Given the description of an element on the screen output the (x, y) to click on. 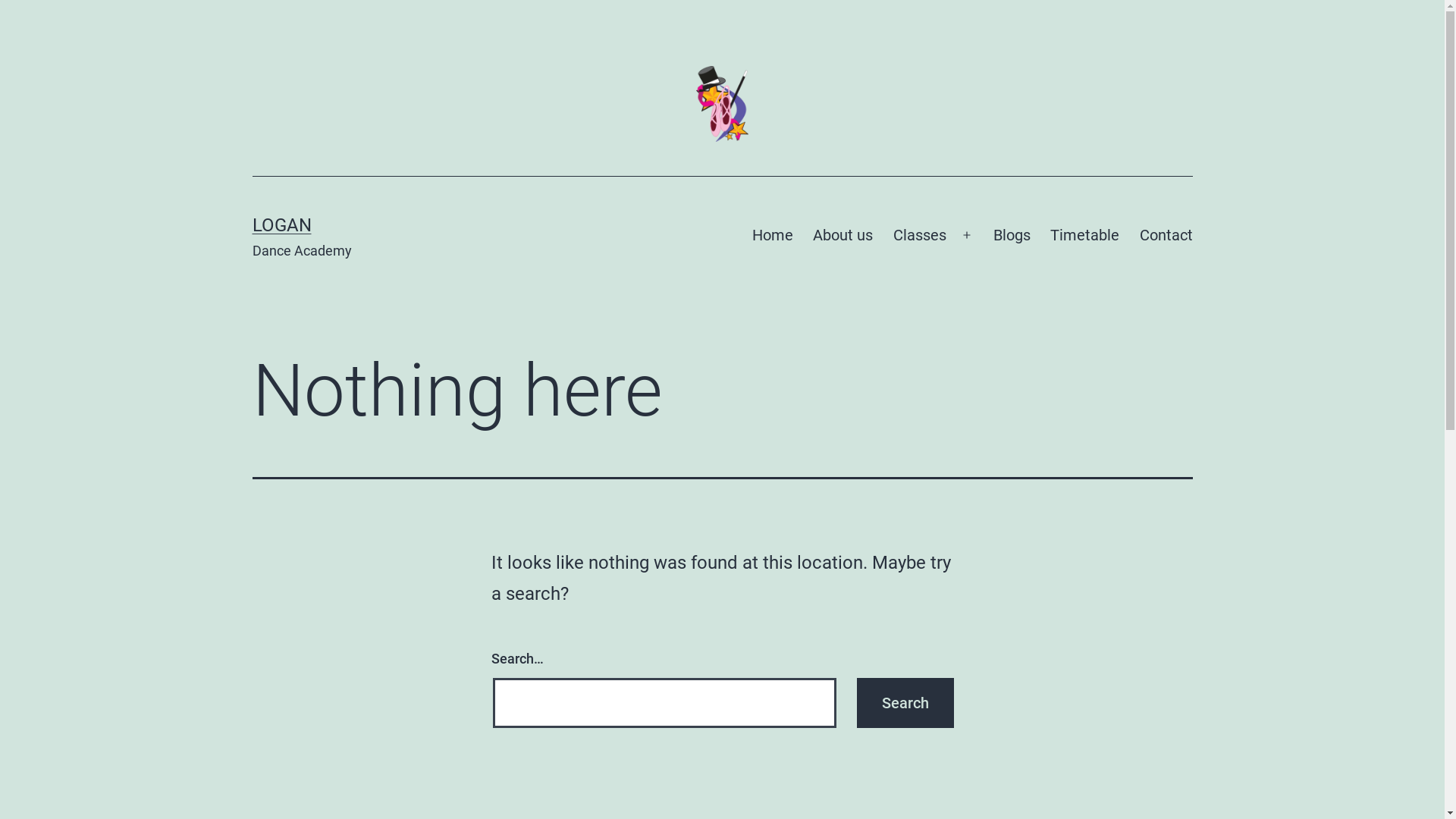
Classes Element type: text (918, 235)
Timetable Element type: text (1084, 235)
Contact Element type: text (1165, 235)
LOGAN Element type: text (280, 224)
Blogs Element type: text (1011, 235)
About us Element type: text (842, 235)
Home Element type: text (772, 235)
Search Element type: text (904, 702)
